Given the description of an element on the screen output the (x, y) to click on. 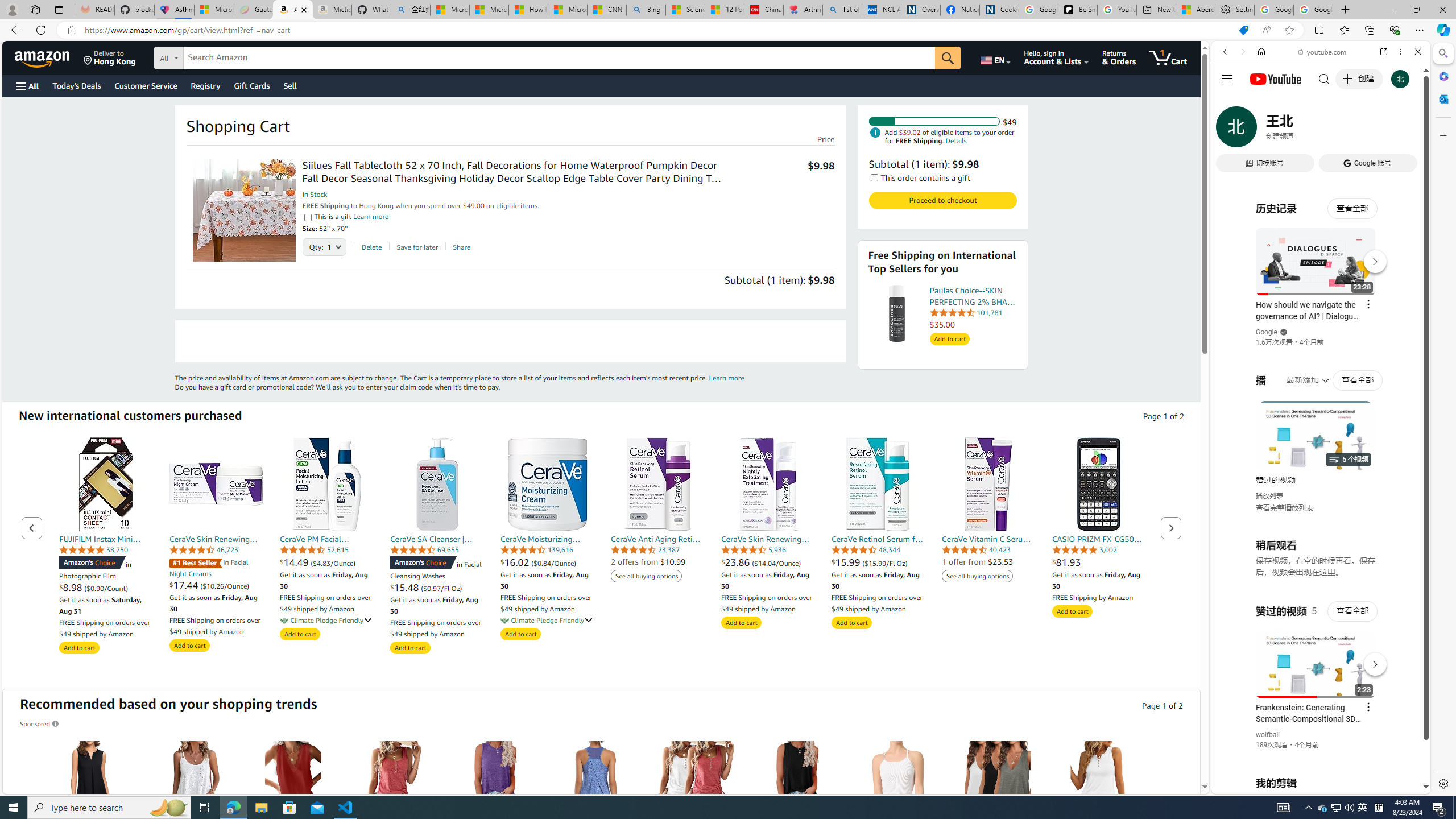
Customer Service (145, 85)
Shopping Cart Learn more (726, 377)
